Given the description of an element on the screen output the (x, y) to click on. 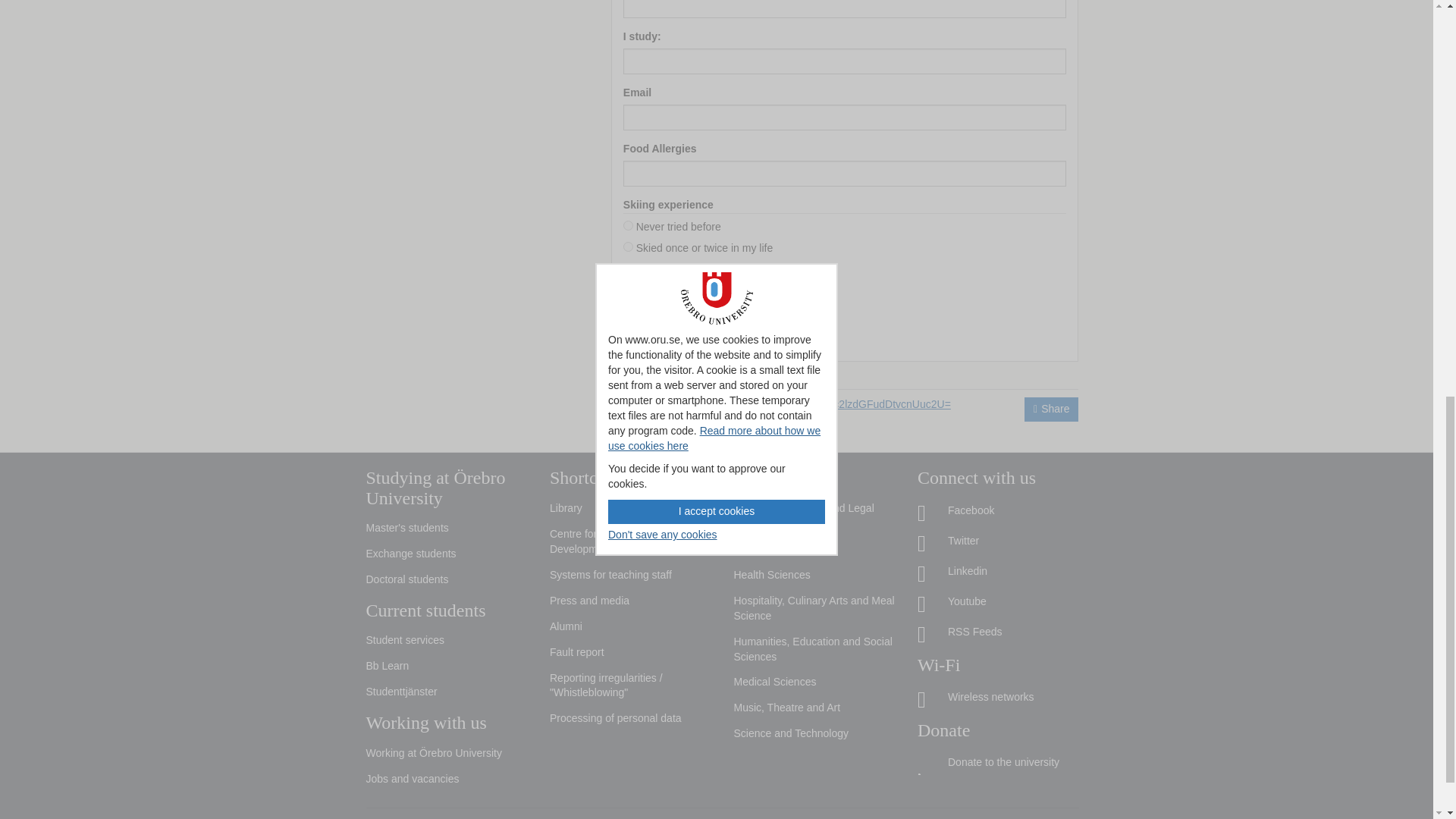
Expert on this!  (628, 289)
Sking is something I know how to do (628, 267)
Donate to the university (997, 762)
Behavioural, Social and Legal Sciences (814, 516)
Never tried before (628, 225)
Skied once or twice in my life (628, 246)
